Given the description of an element on the screen output the (x, y) to click on. 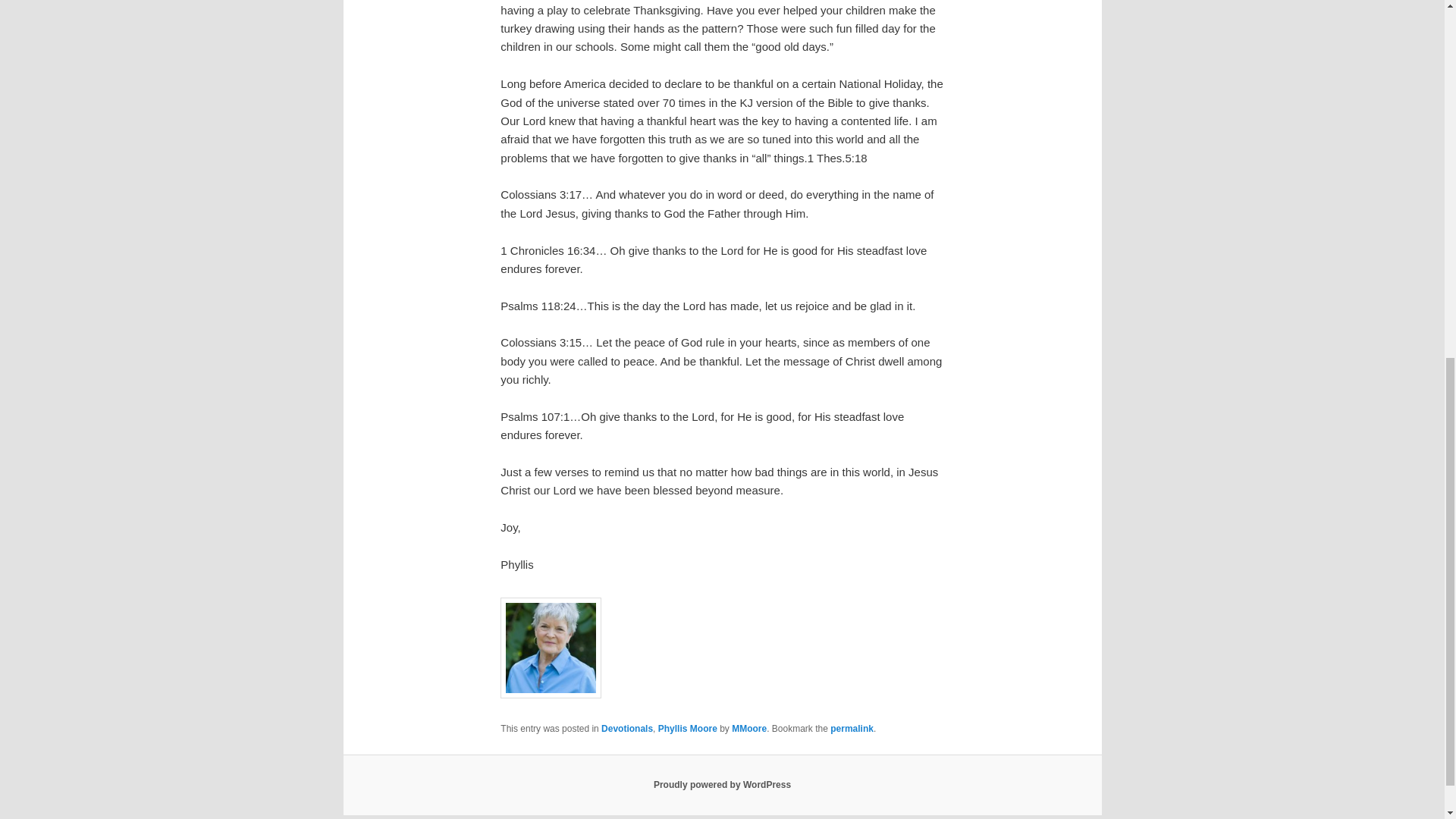
Phyllis Moore (687, 728)
Devotionals (626, 728)
MMoore (749, 728)
Proudly powered by WordPress (721, 784)
Permalink to Thanksgiving! (851, 728)
Semantic Personal Publishing Platform (721, 784)
permalink (851, 728)
